Given the description of an element on the screen output the (x, y) to click on. 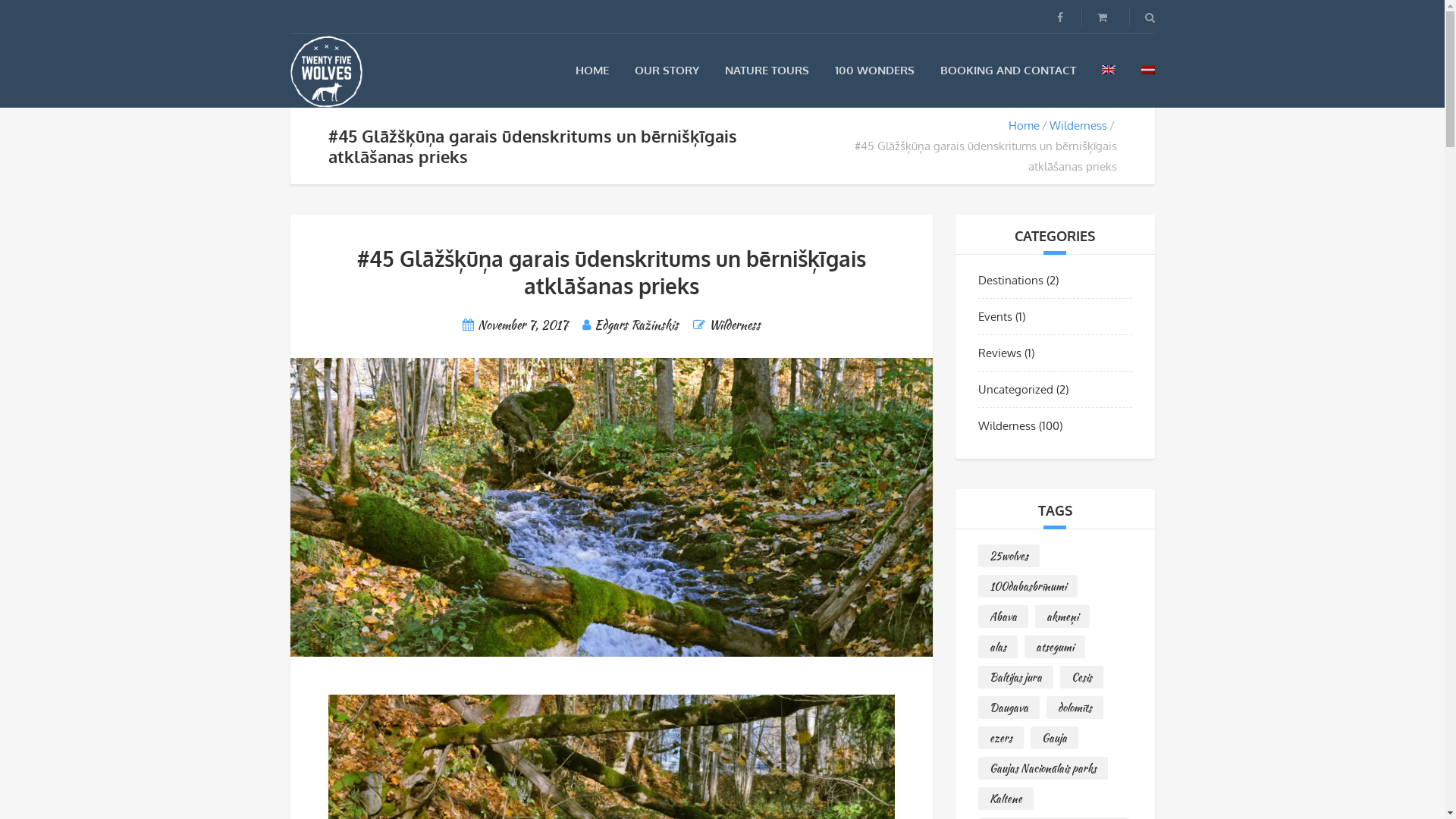
100 WONDERS Element type: text (873, 69)
Baltijas jura Element type: text (1015, 676)
Wilderness Element type: text (1078, 125)
Home Element type: text (1023, 125)
NATURE TOURS Element type: text (766, 69)
Wilderness Element type: text (1006, 425)
alas Element type: text (997, 646)
November 7, 2017 Element type: text (522, 324)
Destinations Element type: text (1010, 280)
Kaltene Element type: text (1005, 798)
BOOKING AND CONTACT Element type: text (1008, 69)
25wolves Element type: text (1008, 555)
English Element type: hover (1107, 69)
ezers Element type: text (1000, 737)
Events Element type: text (995, 316)
Adventure tours in Latvia Element type: hover (325, 71)
Daugava Element type: text (1008, 707)
atsegumi Element type: text (1054, 646)
Uncategorized Element type: text (1015, 389)
Wilderness Element type: text (734, 324)
Cesis Element type: text (1081, 676)
HOME Element type: text (591, 69)
Abava Element type: text (1003, 616)
OUR STORY Element type: text (665, 69)
Gauja Element type: text (1054, 737)
Reviews Element type: text (999, 352)
